Given the description of an element on the screen output the (x, y) to click on. 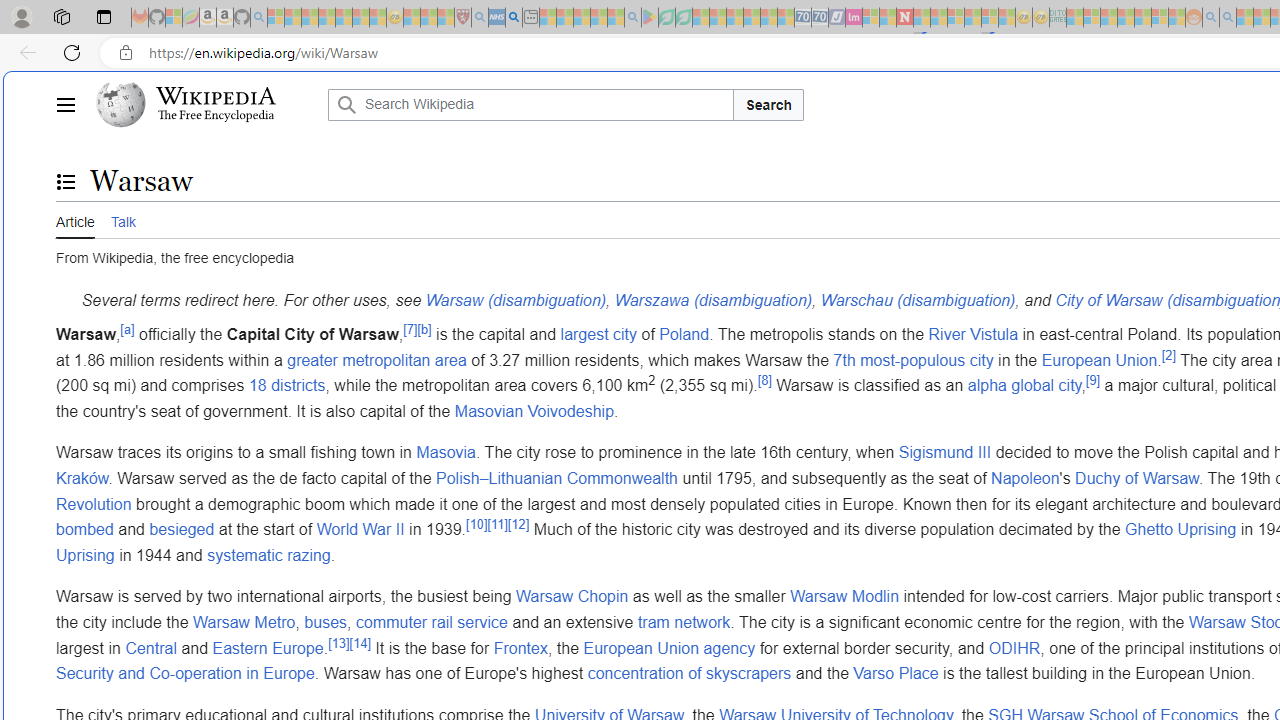
ODIHR (1014, 647)
[14] (360, 642)
World War II (360, 530)
greater metropolitan area (376, 359)
Talk (122, 219)
commuter rail service (431, 621)
